Given the description of an element on the screen output the (x, y) to click on. 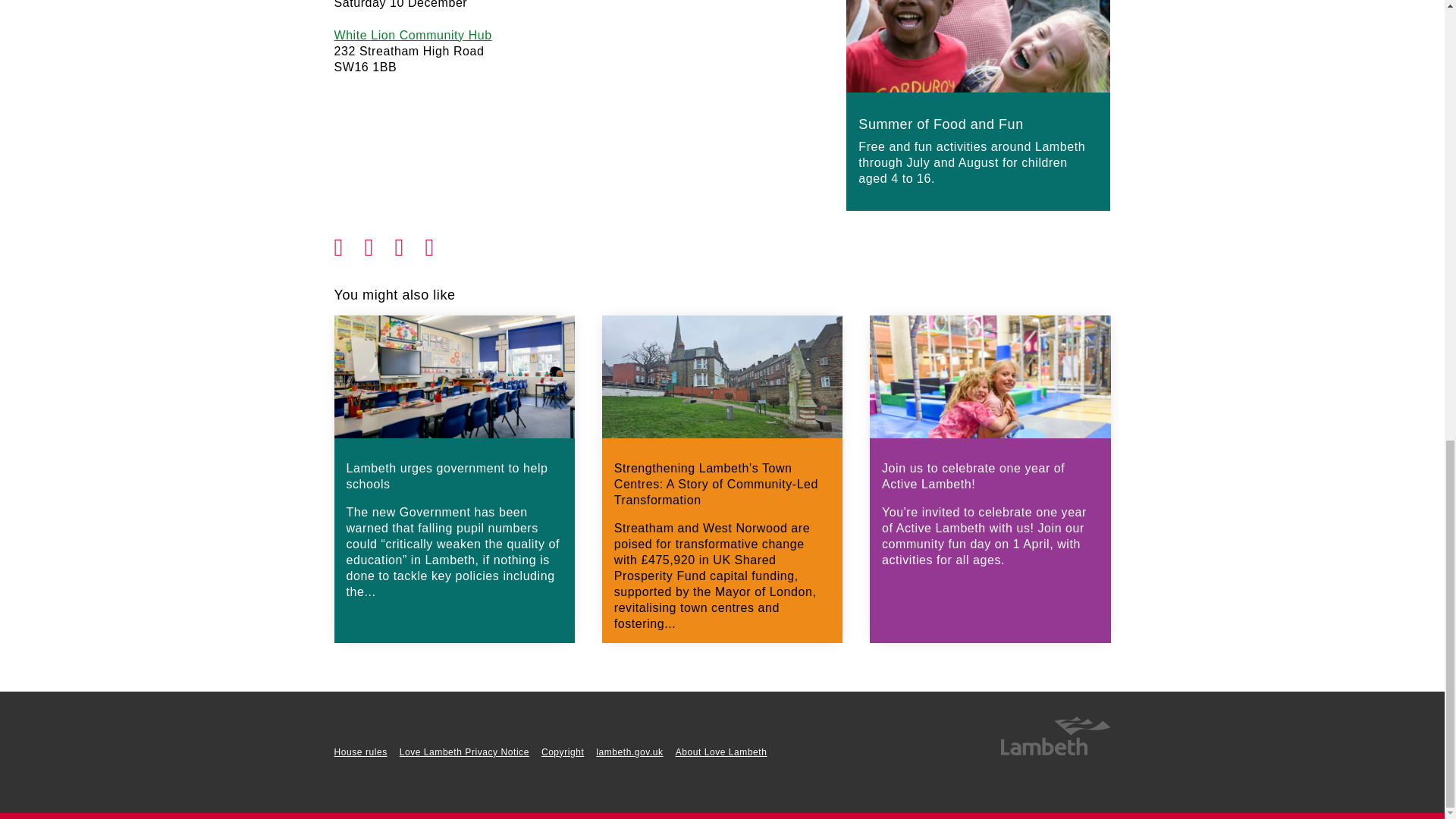
share this on twitter (379, 242)
share this on Facebook (348, 242)
lambeth.gov.uk (628, 751)
About Love Lambeth (721, 751)
House rules (360, 751)
White Lion Community Hub (412, 34)
Love Lambeth Privacy Notice (463, 751)
Copyright (562, 751)
lambeth council's website (1053, 751)
